Given the description of an element on the screen output the (x, y) to click on. 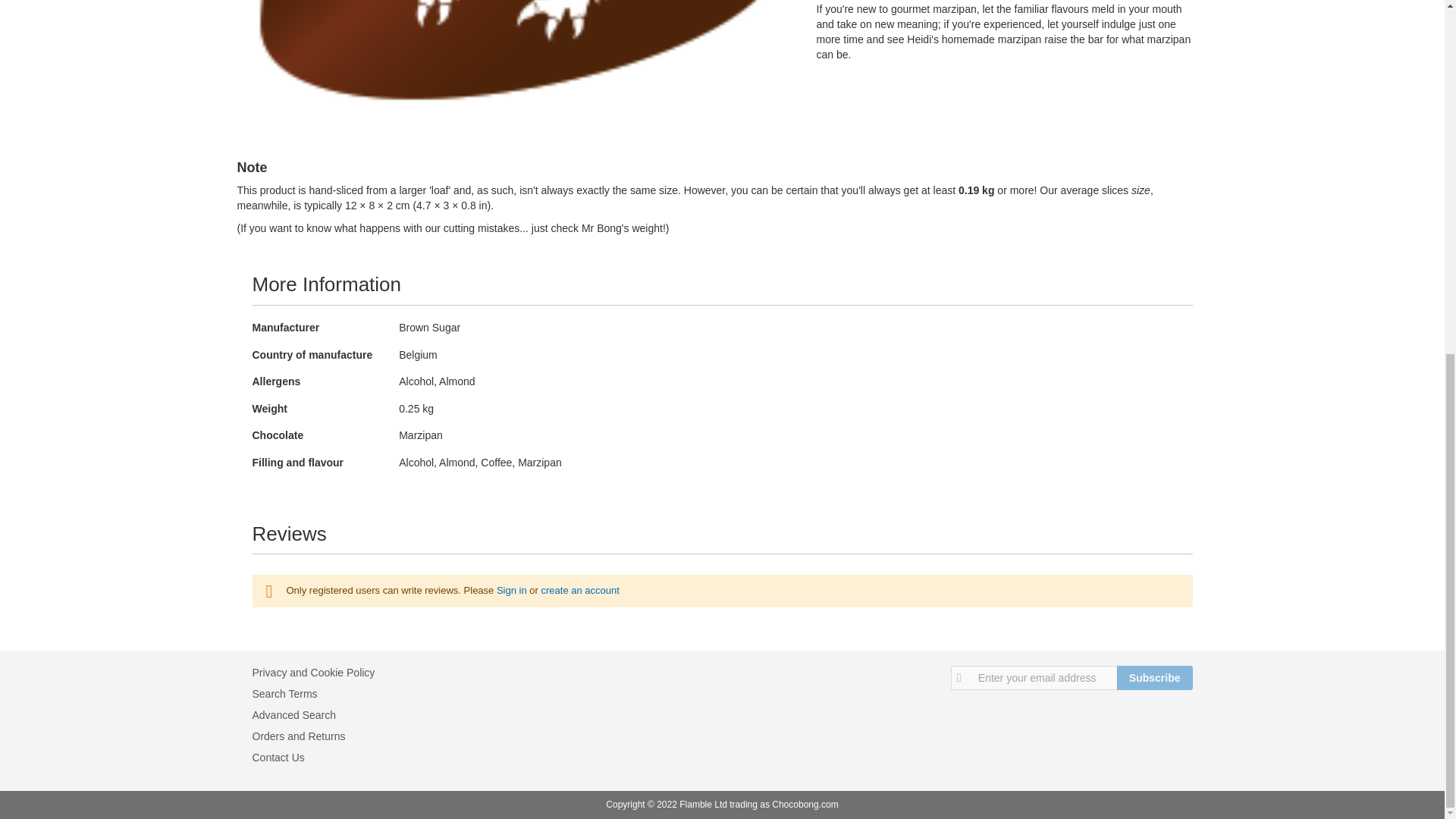
Subscribe (1154, 677)
